Given the description of an element on the screen output the (x, y) to click on. 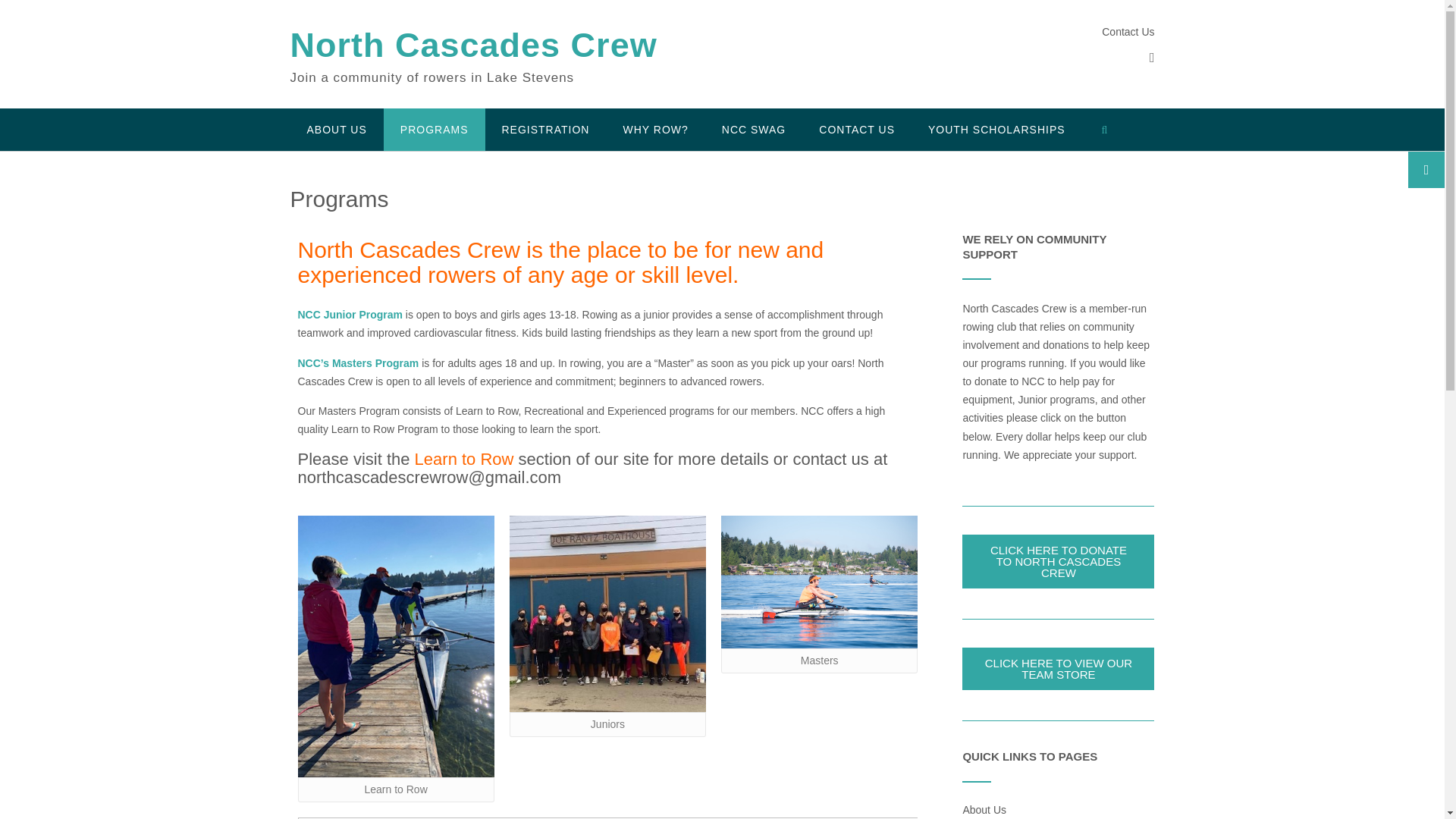
North Cascades Crew (472, 45)
CLICK HERE TO DONATE TO NORTH CASCADES CREW (1058, 561)
YOUTH SCHOLARSHIPS (996, 129)
CLICK HERE TO VIEW OUR TEAM STORE (1058, 668)
About Us (984, 809)
CONTACT US (856, 129)
PROGRAMS (434, 129)
WHY ROW? (654, 129)
Learn to Row (463, 458)
NCC Junior Program (349, 314)
